Given the description of an element on the screen output the (x, y) to click on. 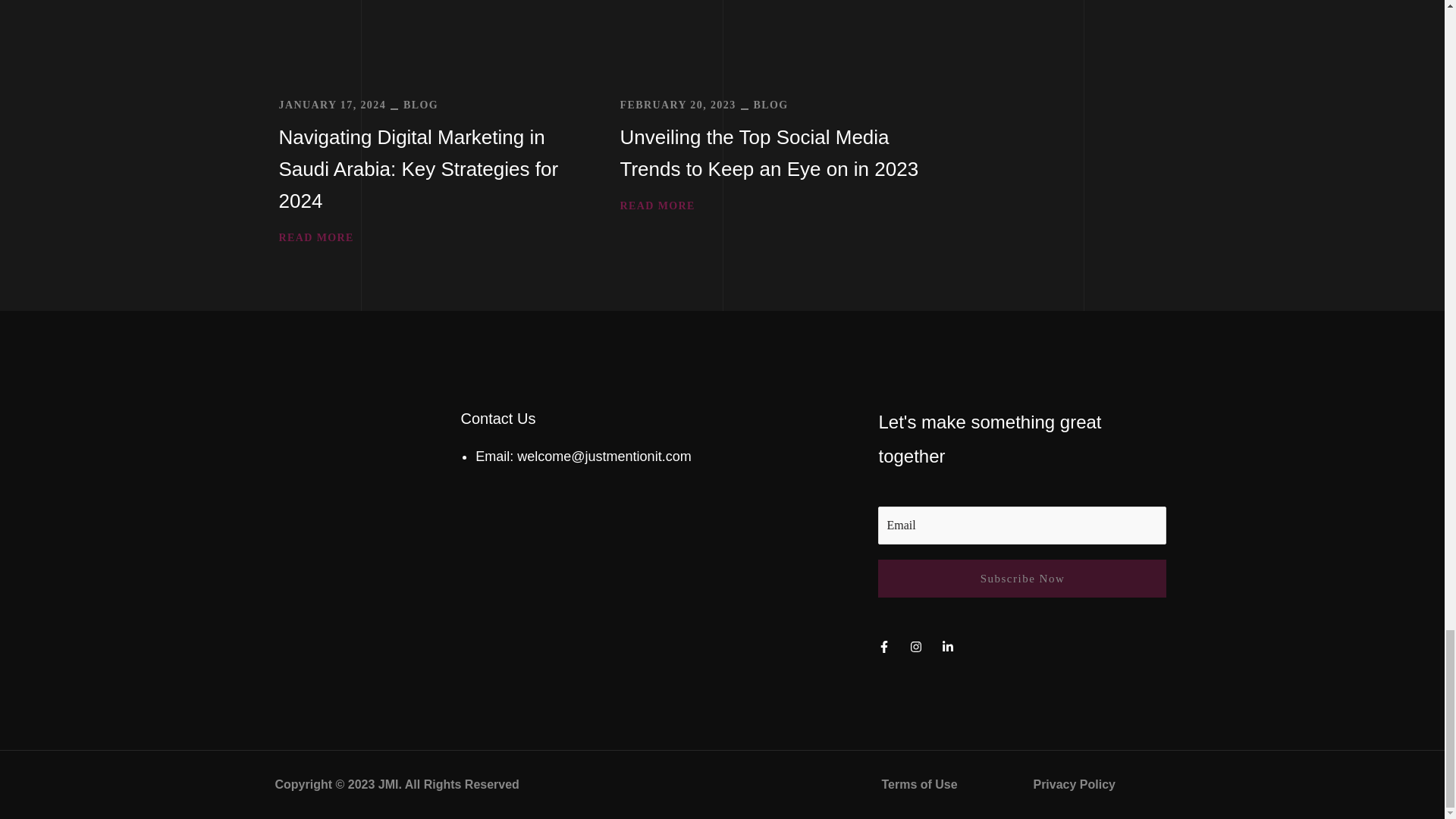
LinkeIn (947, 646)
Facebook (884, 646)
Instagram (916, 646)
